Given the description of an element on the screen output the (x, y) to click on. 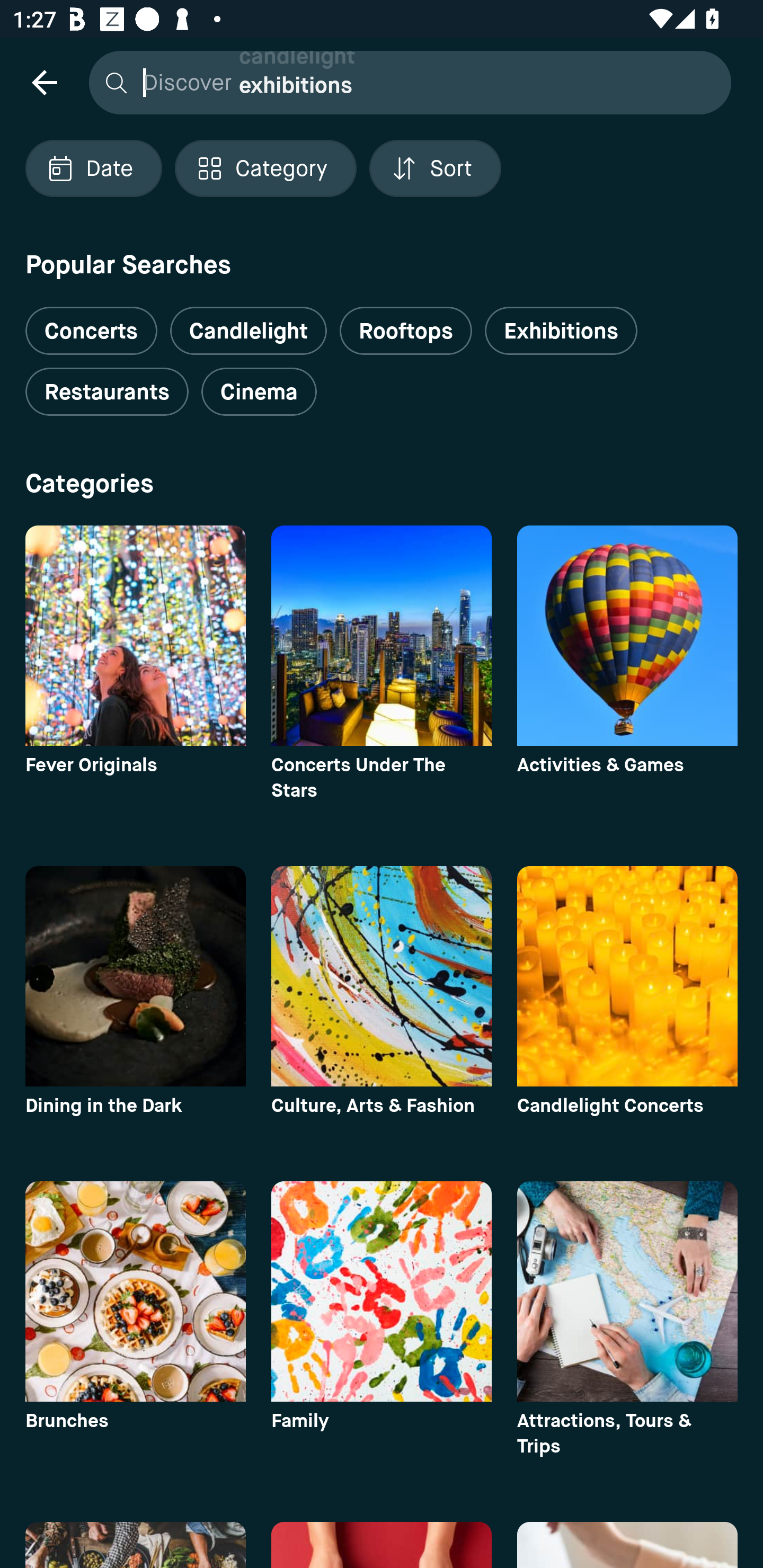
navigation icon (44, 81)
Discover candlelight exhibitions (405, 81)
Localized description Date (93, 168)
Localized description Category (265, 168)
Localized description Sort (435, 168)
Concerts (91, 323)
Candlelight (248, 330)
Rooftops (405, 330)
Exhibitions (560, 330)
Restaurants (106, 391)
Cinema (258, 391)
category image (135, 635)
category image (381, 635)
category image (627, 635)
category image (135, 975)
category image (381, 975)
category image (627, 975)
category image (135, 1290)
category image (381, 1290)
category image (627, 1290)
